Given the description of an element on the screen output the (x, y) to click on. 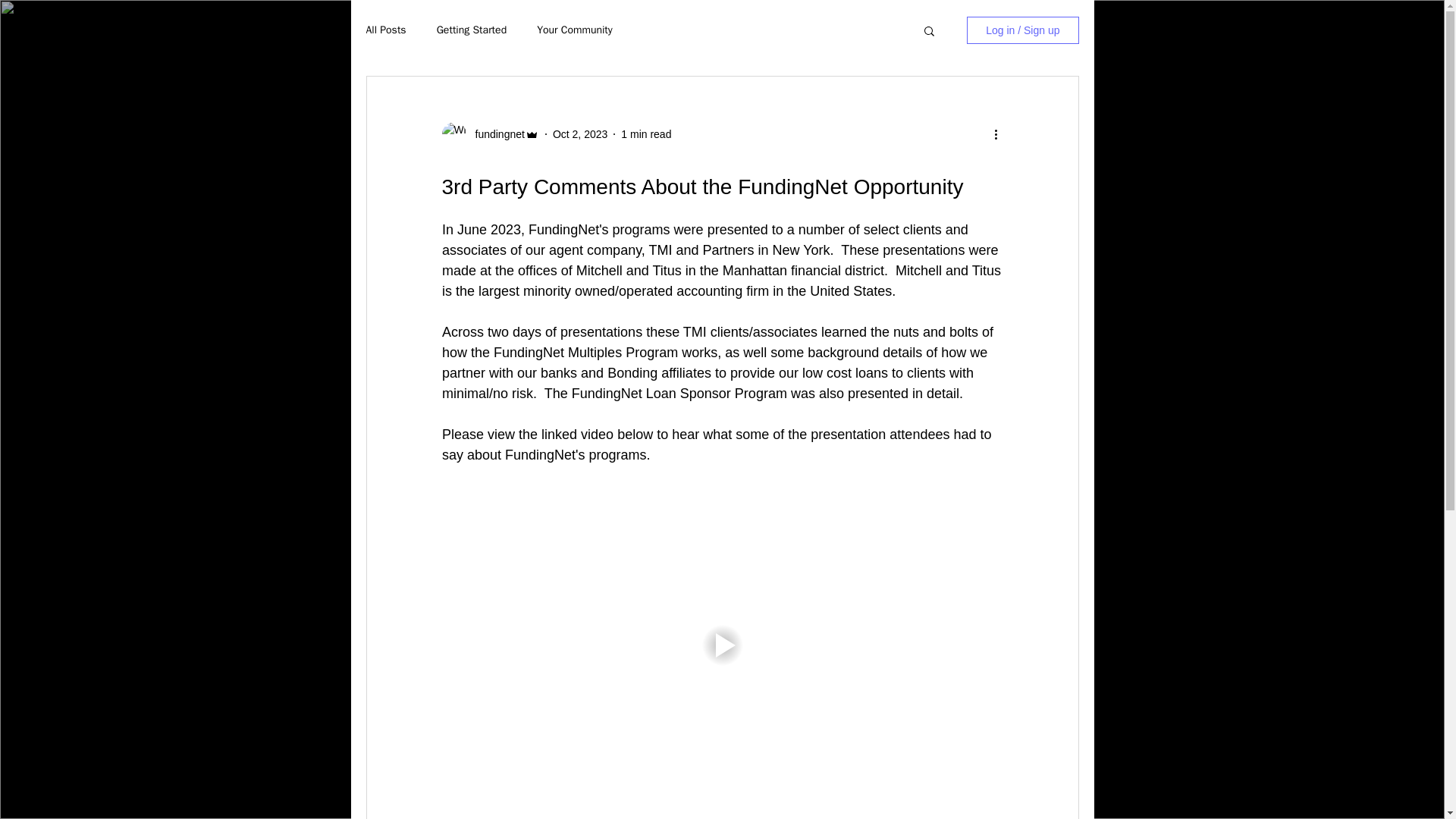
Your Community (574, 29)
Oct 2, 2023 (580, 133)
1 min read (646, 133)
Getting Started (471, 29)
fundingnet (494, 133)
All Posts (385, 29)
